Given the description of an element on the screen output the (x, y) to click on. 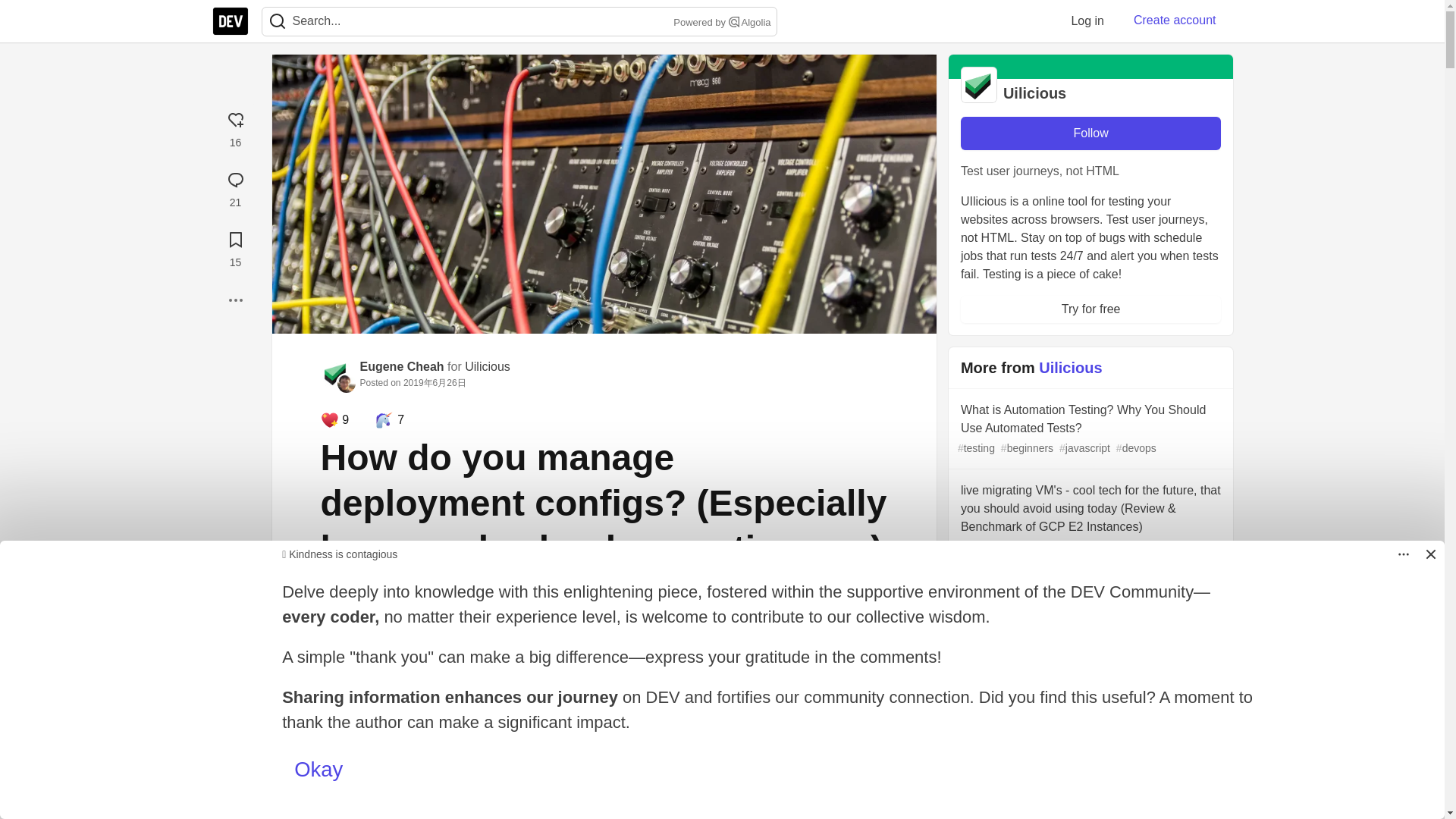
Create account (1174, 20)
More... (234, 299)
21 (235, 187)
More... (234, 300)
Uilicious (487, 366)
Powered by Algolia (720, 22)
Eugene Cheah (401, 366)
Log in (1087, 20)
15 (235, 247)
